Given the description of an element on the screen output the (x, y) to click on. 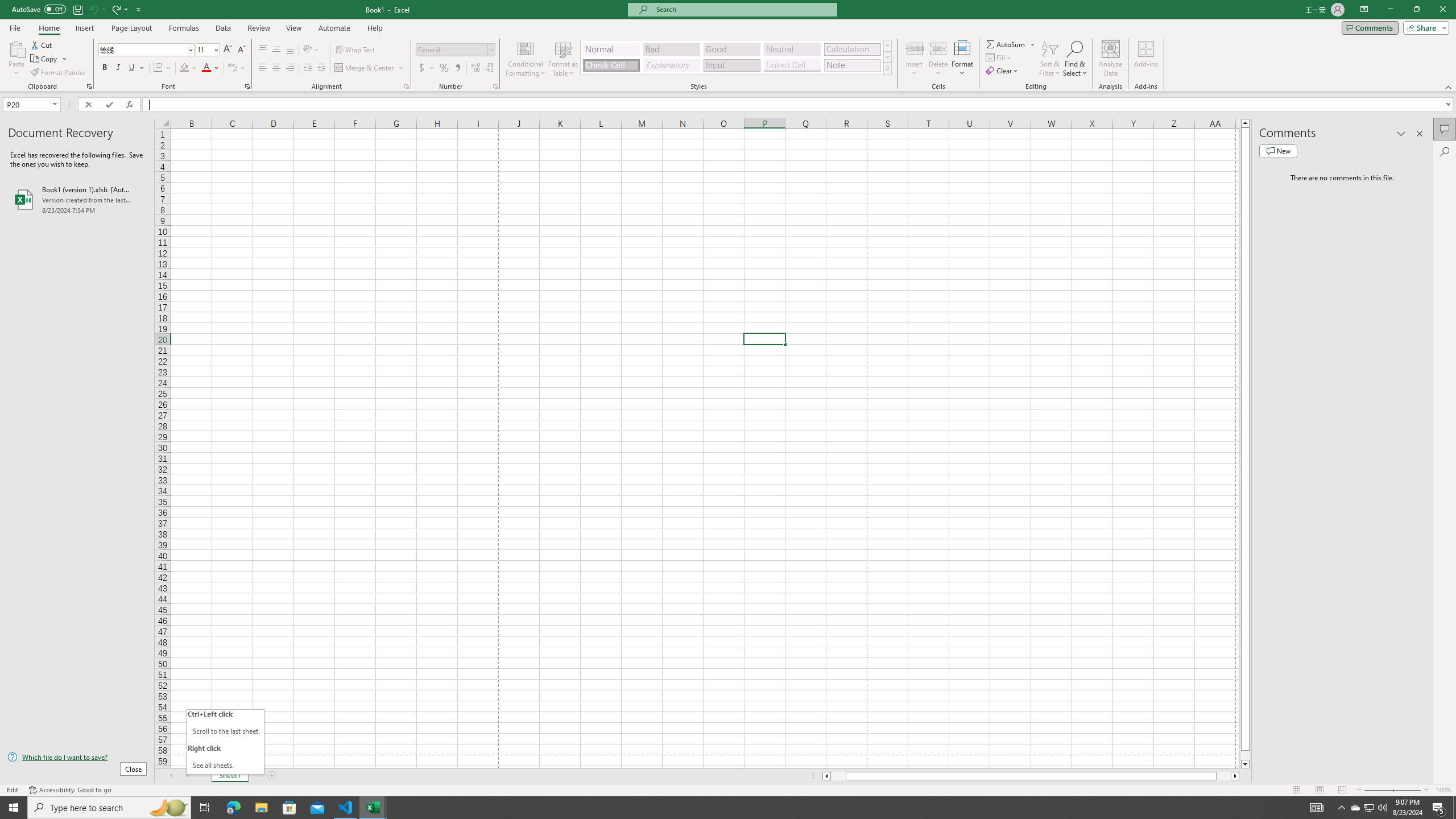
Cell Styles (887, 68)
Number Format (455, 49)
Format Cell Alignment (405, 85)
Input (731, 65)
Increase Font Size (227, 49)
AutoSum (1011, 44)
